Given the description of an element on the screen output the (x, y) to click on. 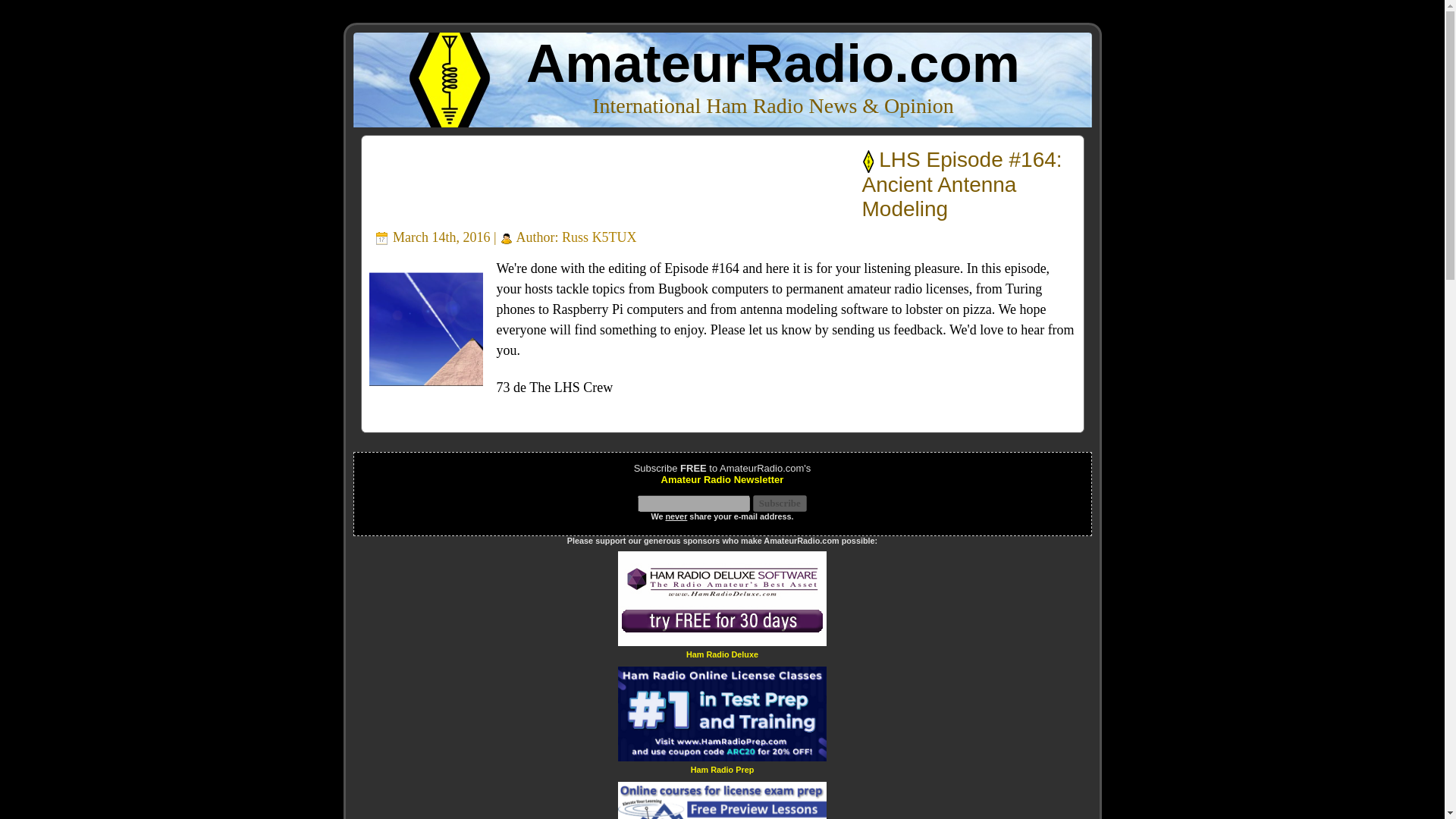
Ham Radio Prep (722, 768)
Subscribe (779, 503)
Subscribe (779, 503)
Posts by Russ K5TUX (599, 237)
Russ K5TUX (599, 237)
AmateurRadio.com (772, 63)
Ham Radio Deluxe (721, 654)
